Given the description of an element on the screen output the (x, y) to click on. 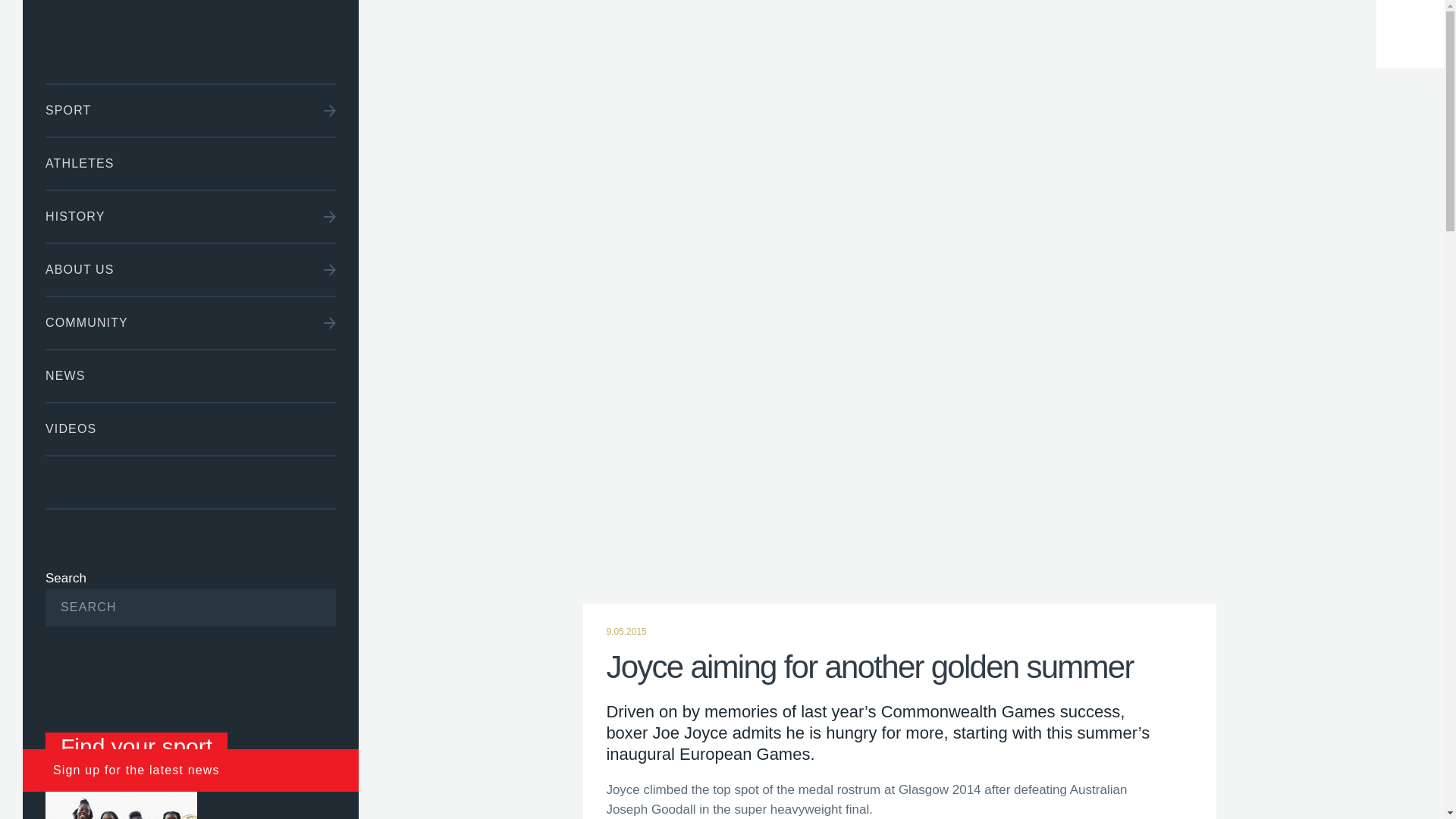
Subscribe (301, 607)
SPORT (190, 110)
HISTORY (190, 216)
Commonwealth Games England (190, 41)
Subscribe (301, 607)
ATHLETES (190, 163)
